Given the description of an element on the screen output the (x, y) to click on. 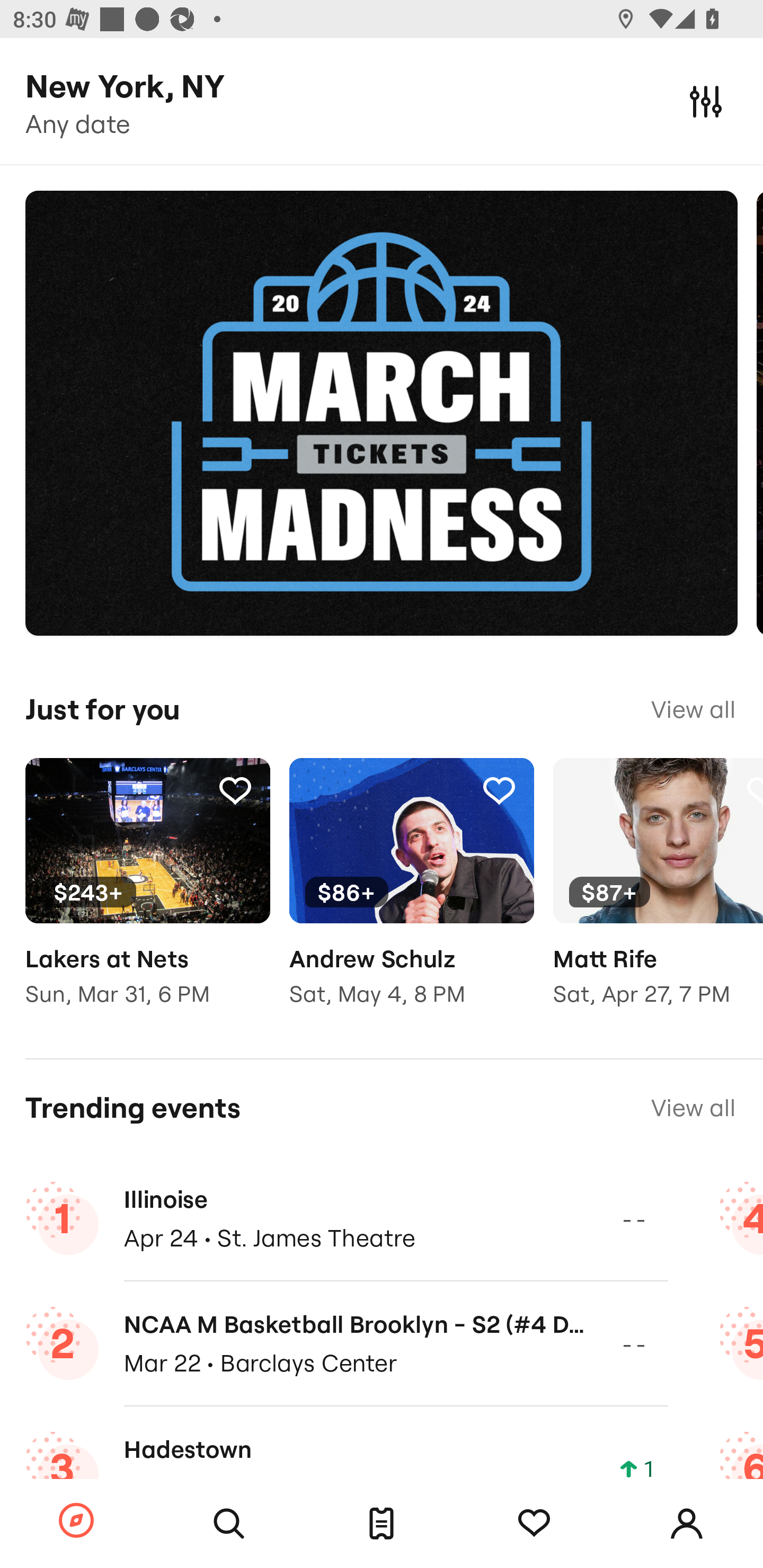
Filters (705, 100)
View all (693, 709)
Tracking $243+ Lakers at Nets Sun, Mar 31, 6 PM (147, 895)
Tracking $86+ Andrew Schulz Sat, May 4, 8 PM (411, 895)
Tracking $87+ Matt Rife Sat, Apr 27, 7 PM (658, 895)
Tracking (234, 790)
Tracking (498, 790)
View all (693, 1108)
Browse (76, 1521)
Search (228, 1523)
Tickets (381, 1523)
Tracking (533, 1523)
Account (686, 1523)
